Given the description of an element on the screen output the (x, y) to click on. 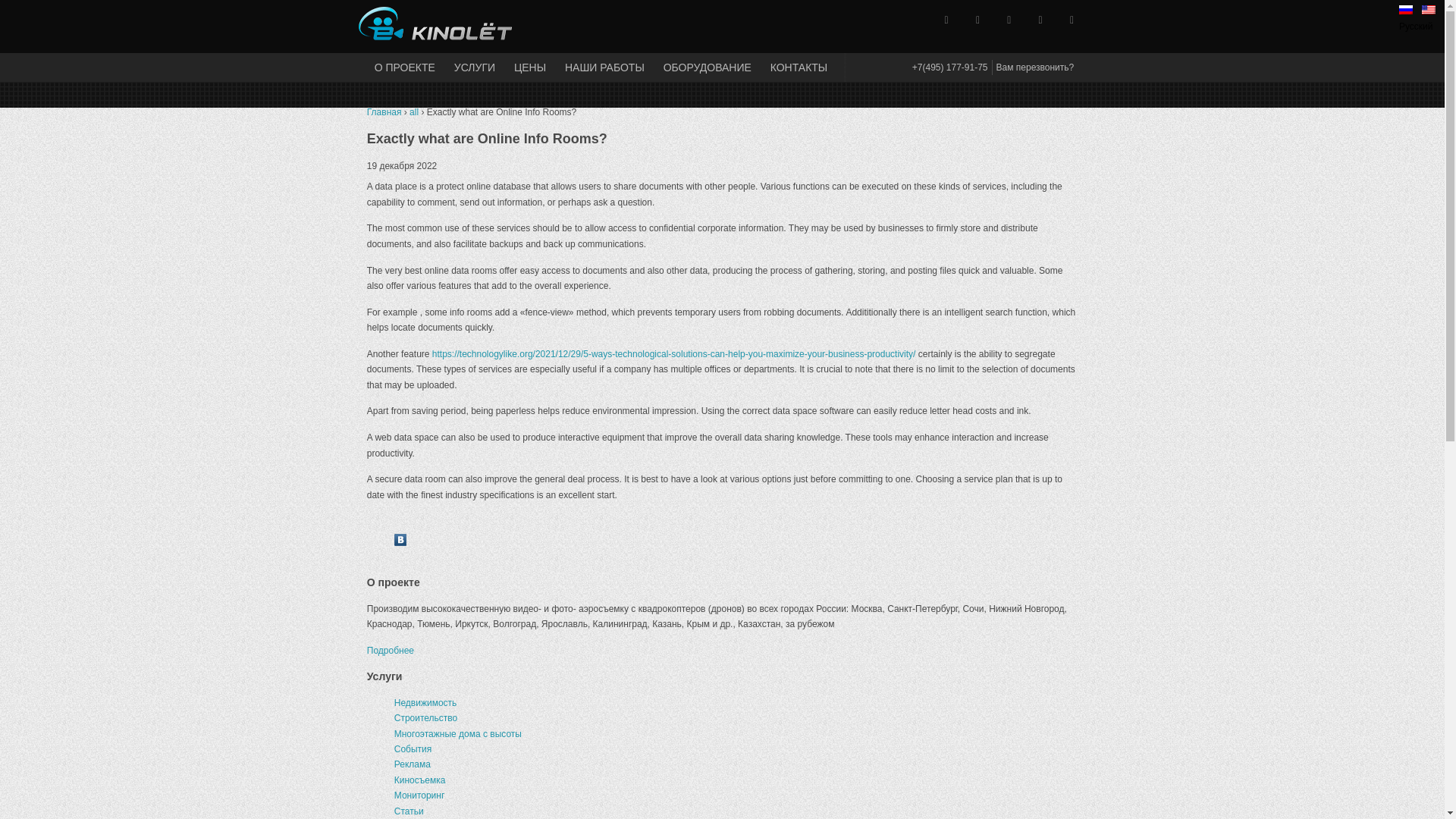
Share this on VKontakte (400, 542)
kinolet (371, 23)
